Given the description of an element on the screen output the (x, y) to click on. 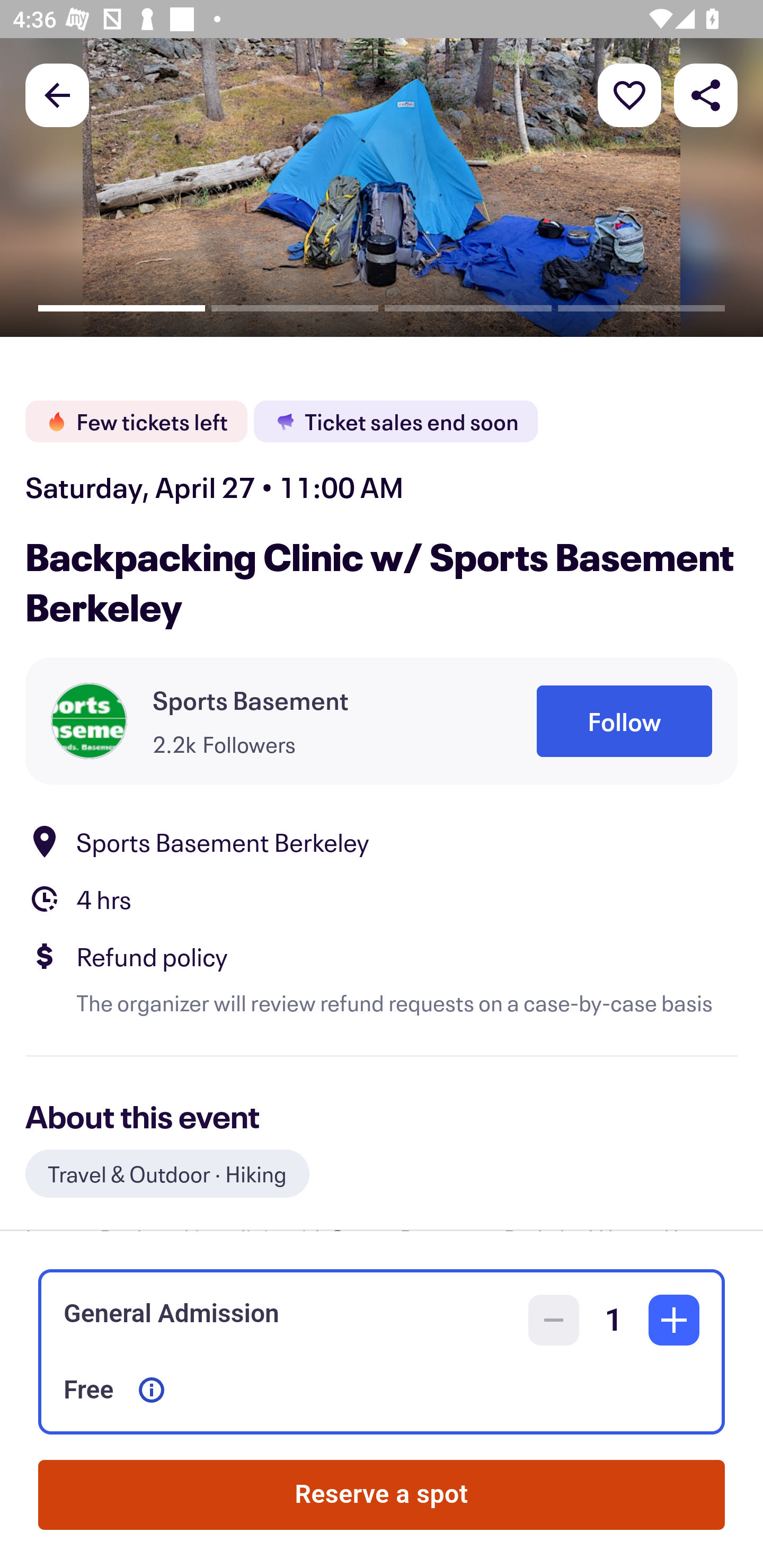
Back (57, 94)
More (629, 94)
Share (705, 94)
Sports Basement (250, 699)
Organizer profile picture (89, 720)
Follow (623, 720)
Location Sports Basement Berkeley (381, 840)
